Given the description of an element on the screen output the (x, y) to click on. 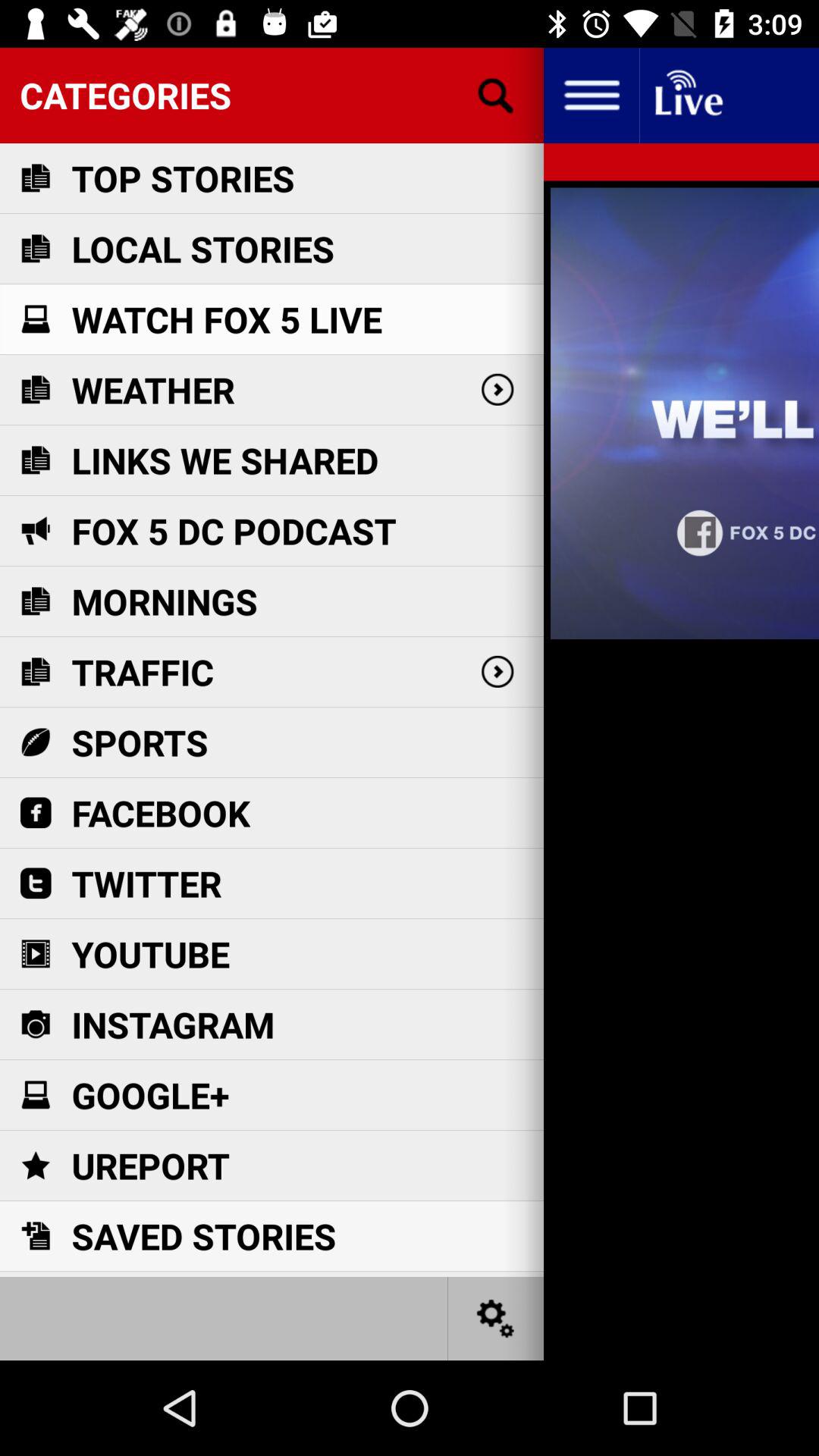
launch item on the right (681, 770)
